Given the description of an element on the screen output the (x, y) to click on. 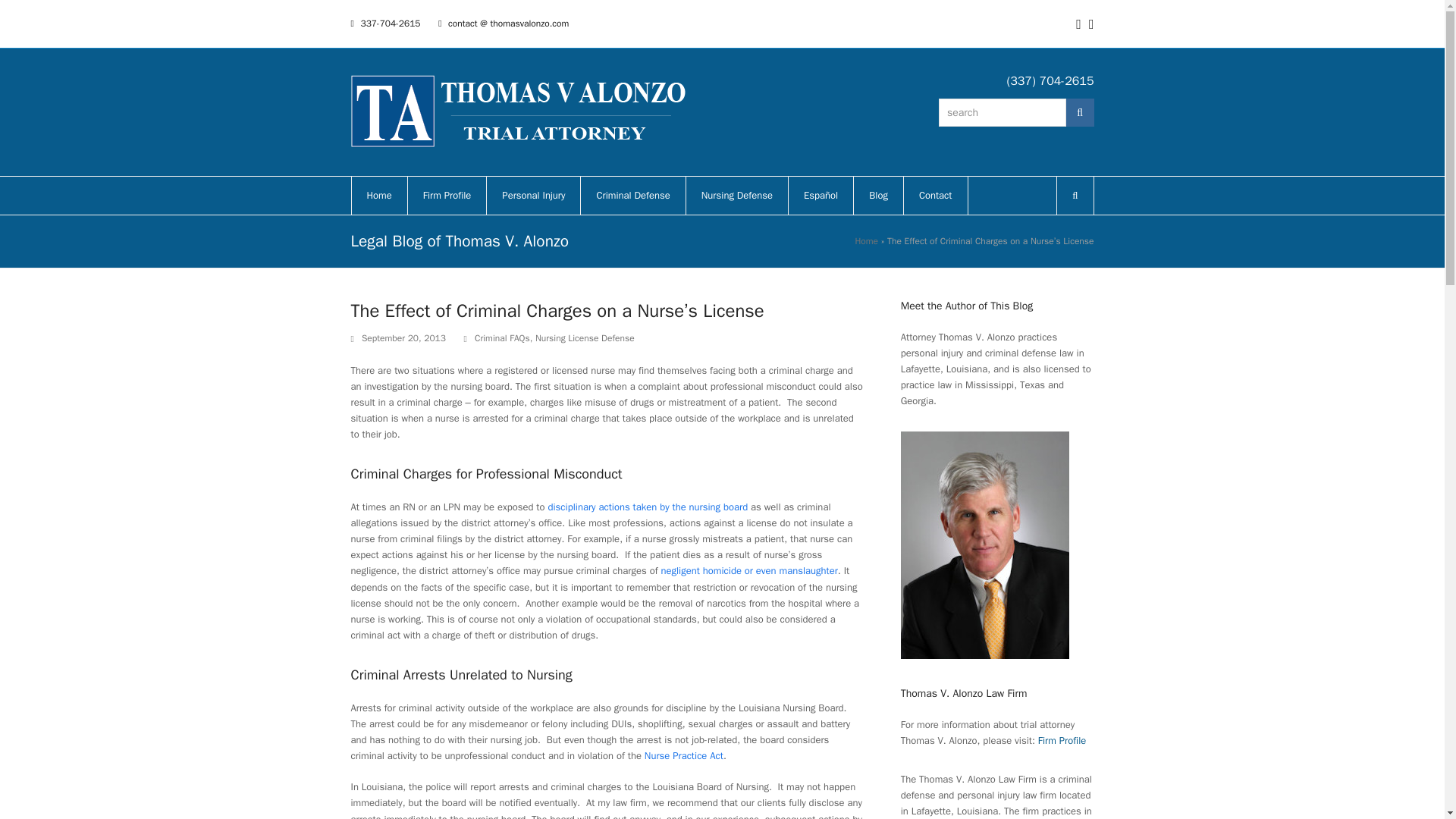
Home (379, 195)
Firm Profile (446, 195)
Louisiana Nursing Board Disciplinary Actions (647, 506)
Search (1079, 112)
Contact (936, 195)
Blog (877, 195)
Nursing Defense (736, 195)
Criminal Defense (632, 195)
Personal Injury (532, 195)
